Given the description of an element on the screen output the (x, y) to click on. 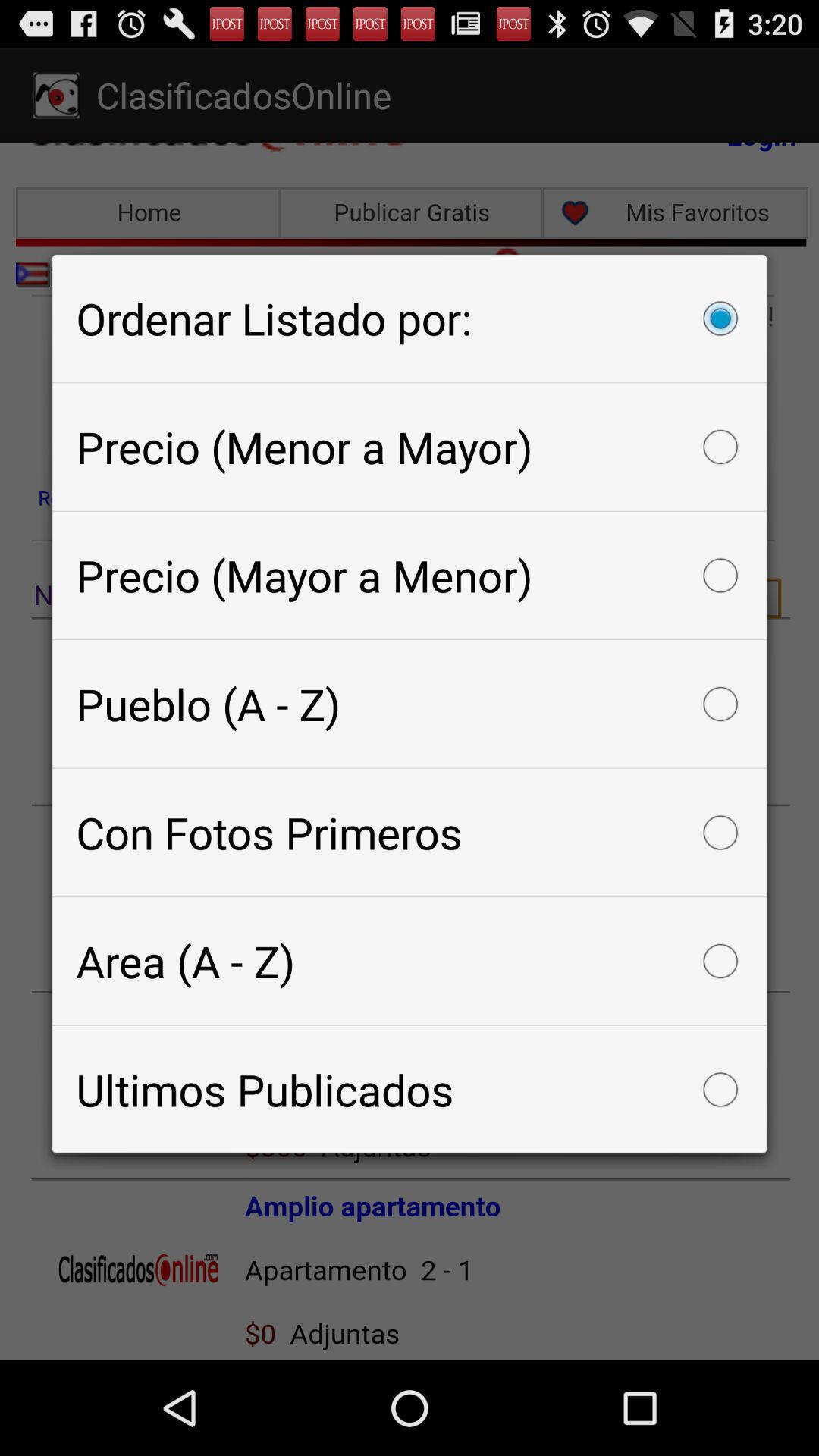
turn off the icon below the area (a - z) icon (409, 1089)
